Given the description of an element on the screen output the (x, y) to click on. 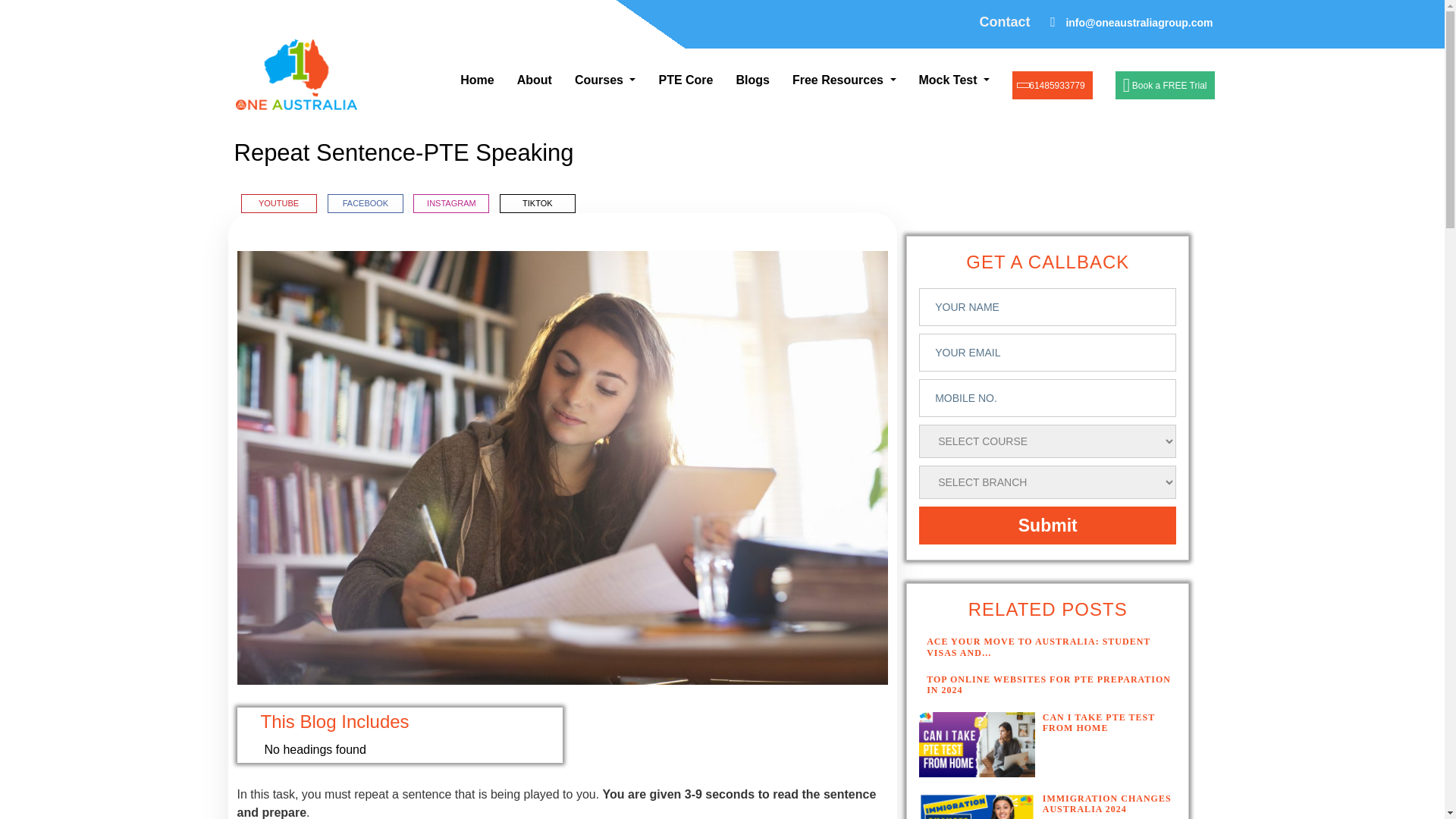
PTE Core (684, 80)
Blogs (752, 80)
Submit (1047, 525)
Courses (605, 80)
Mock Test (954, 80)
Contact (1007, 34)
Free Resources (844, 80)
Home (477, 80)
About (534, 80)
